Given the description of an element on the screen output the (x, y) to click on. 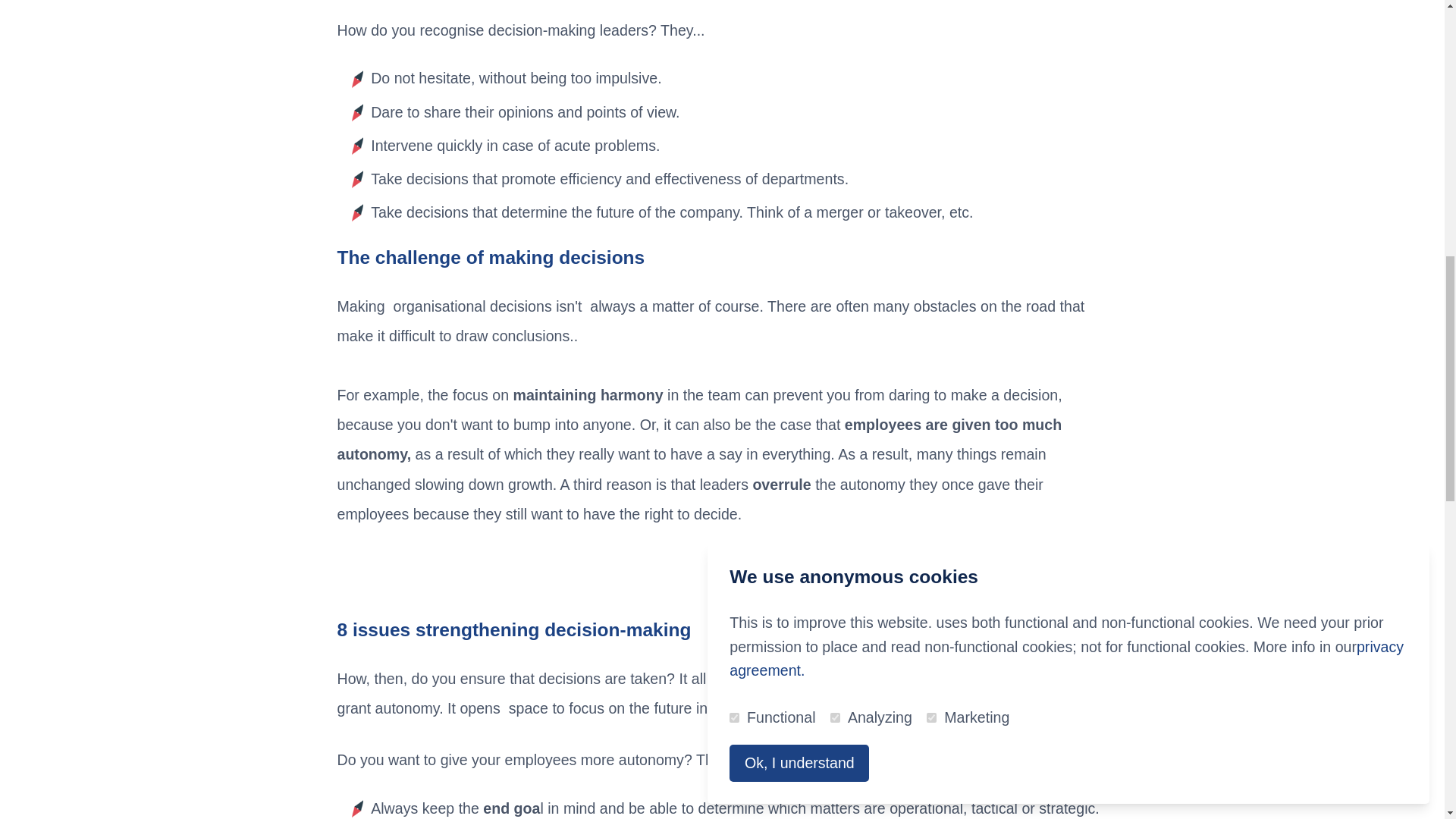
paying more attention to your team (895, 678)
